Given the description of an element on the screen output the (x, y) to click on. 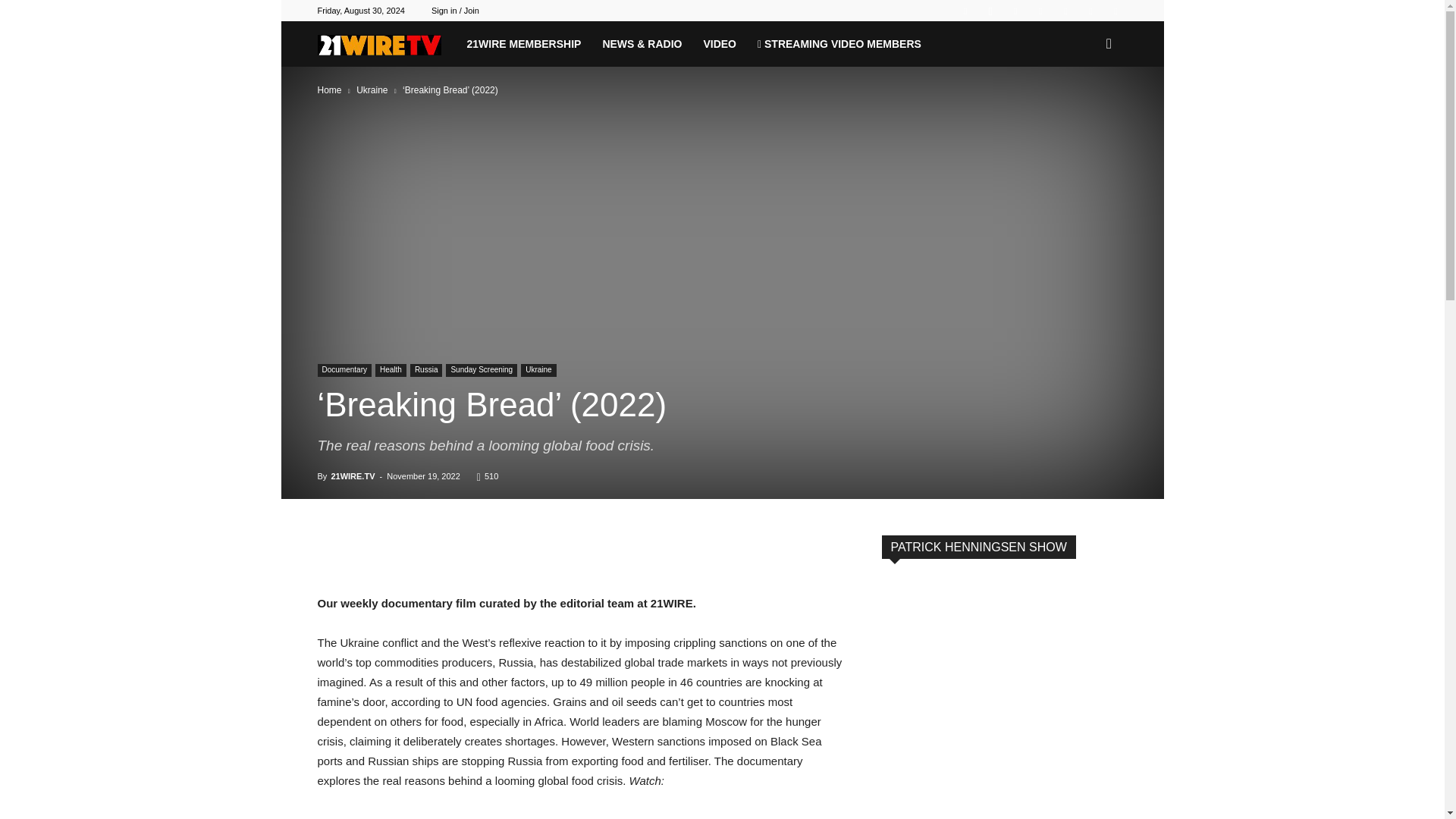
Soundcloud (1040, 10)
Telegram (1065, 10)
Instagram (989, 10)
21WIRE.TV (379, 44)
RSS (1015, 10)
Facebook (964, 10)
Youtube (1114, 10)
Twitter (1090, 10)
